Given the description of an element on the screen output the (x, y) to click on. 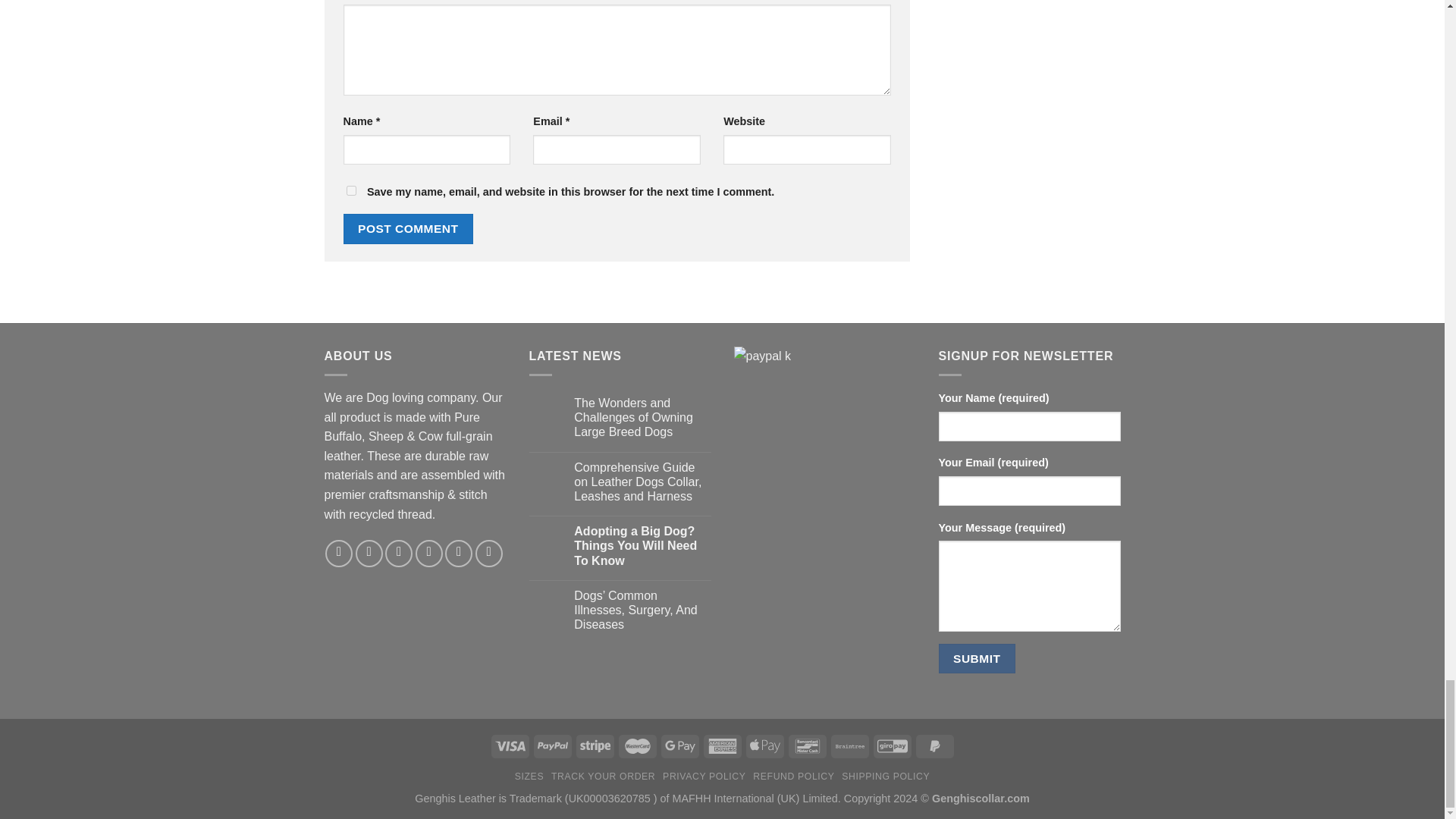
Post Comment (407, 228)
yes (350, 190)
Submit (976, 658)
